Given the description of an element on the screen output the (x, y) to click on. 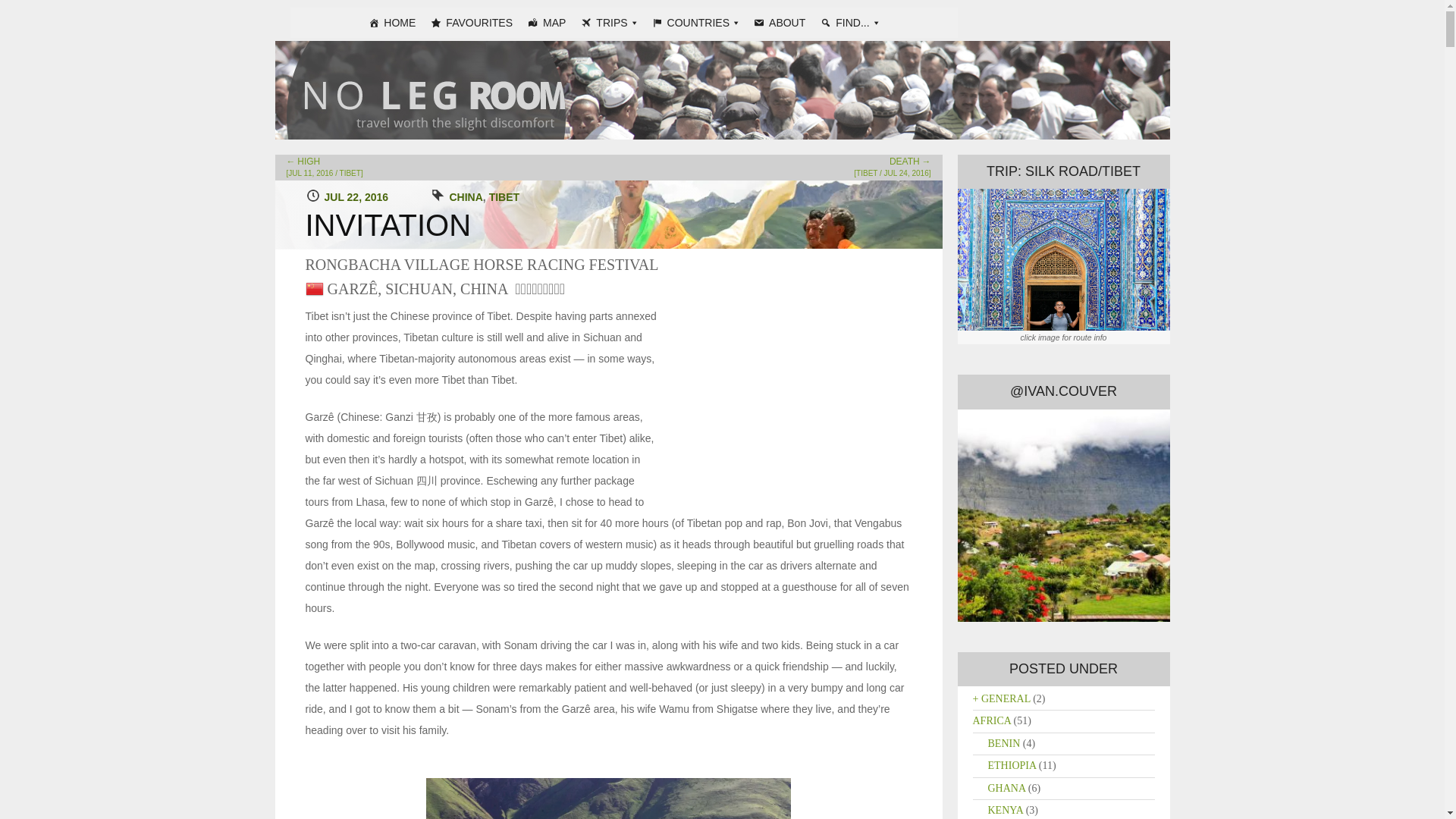
No Leg Room (373, 46)
9:06 pm (356, 196)
NO LEG ROOM (373, 46)
Skip to content (296, 41)
No Leg Room (730, 89)
Death (891, 167)
FAVOURITES (471, 22)
TRIPS (608, 22)
High (324, 167)
Skip to content (296, 41)
HOME (392, 22)
MAP (546, 22)
